Given the description of an element on the screen output the (x, y) to click on. 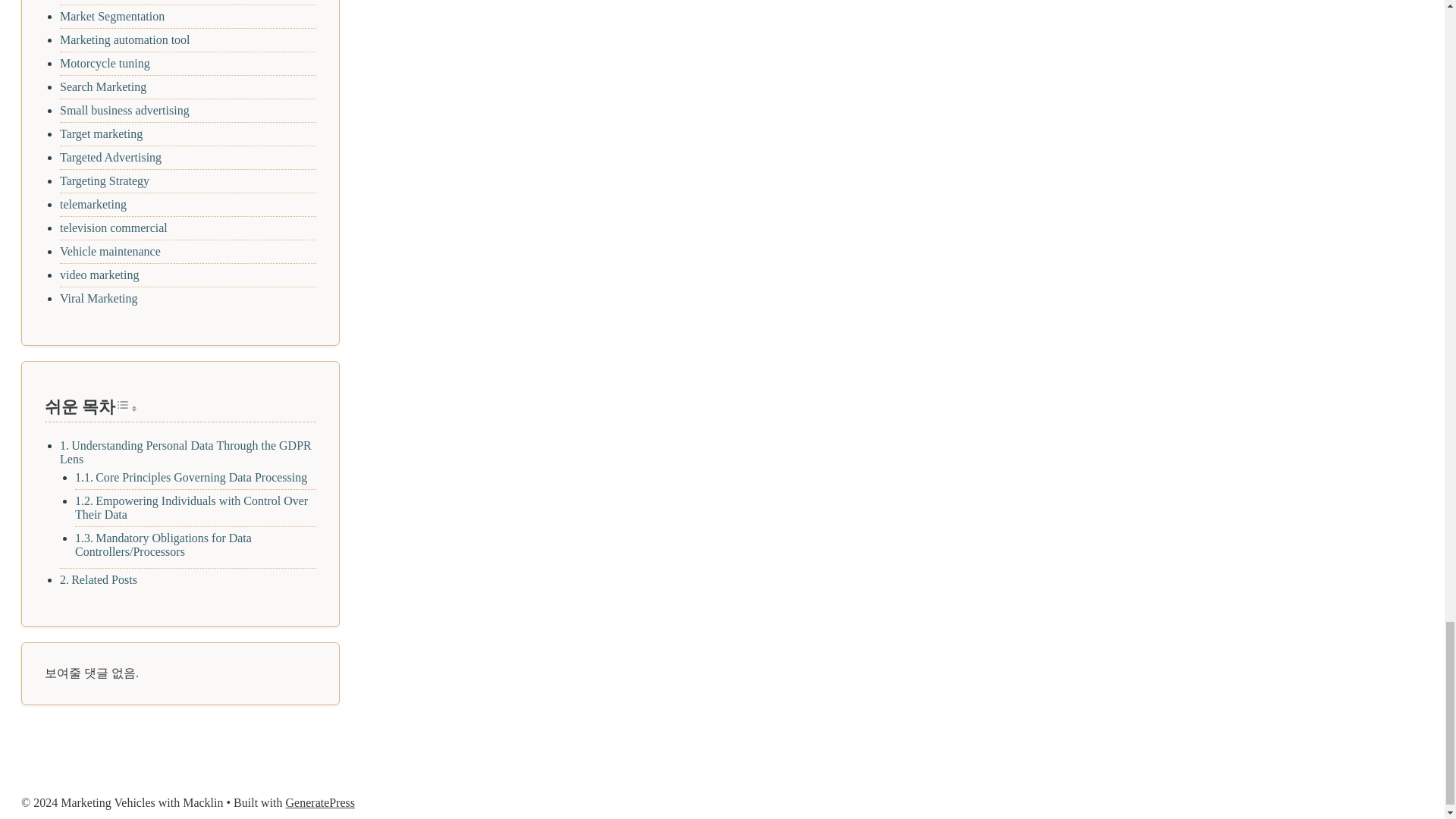
Related Posts (103, 578)
Understanding Personal Data Through the GDPR Lens (185, 452)
Empowering Individuals with Control Over Their Data (191, 506)
Core Principles Governing Data Processing (201, 477)
